Given the description of an element on the screen output the (x, y) to click on. 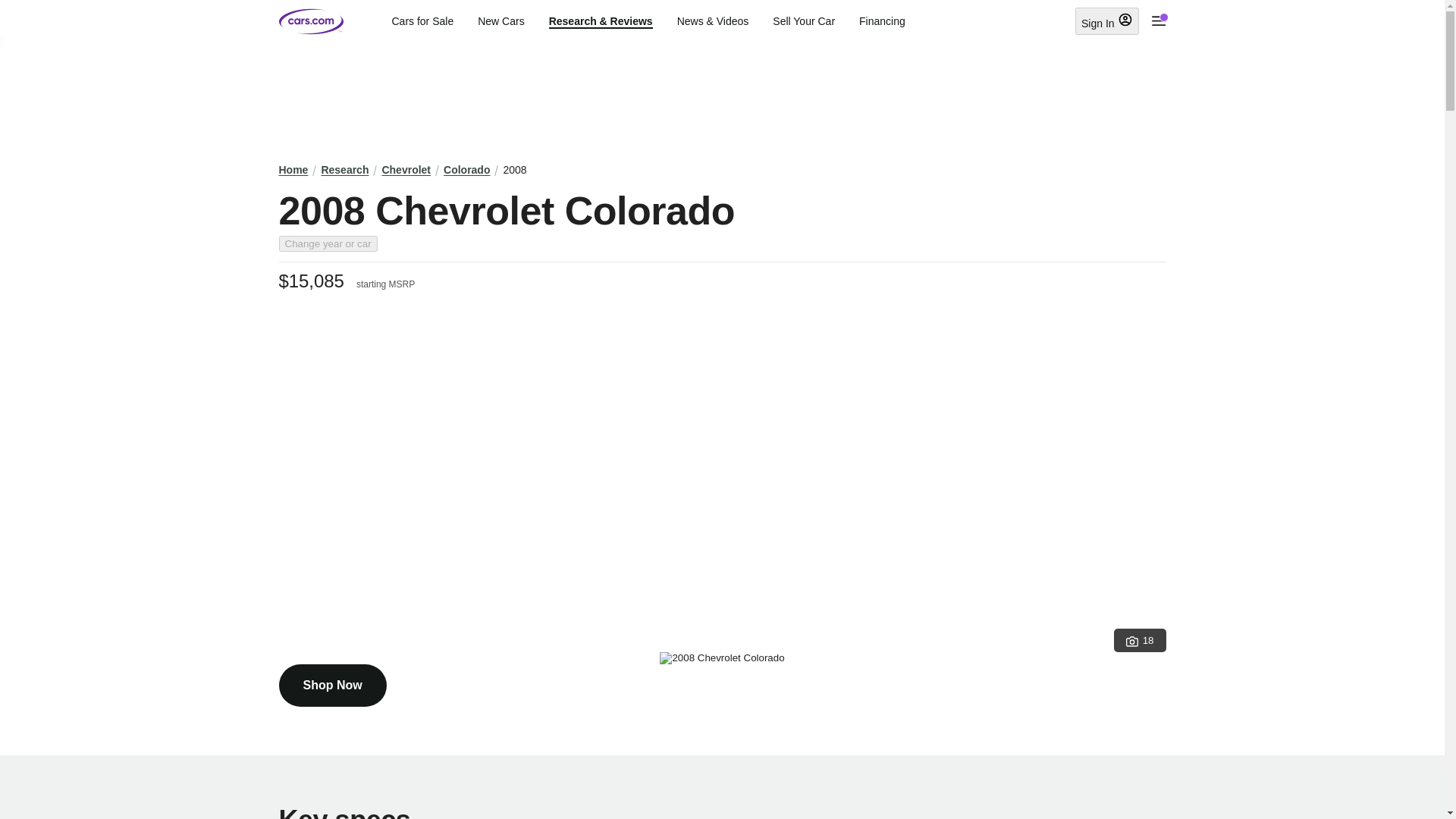
Research (344, 170)
Skip to main content (12, 11)
Home (293, 170)
Sell Your Car (803, 21)
Shop Now (333, 685)
Colorado (466, 170)
New Cars (500, 21)
Cars for Sale (421, 21)
Chevrolet (405, 170)
